Given the description of an element on the screen output the (x, y) to click on. 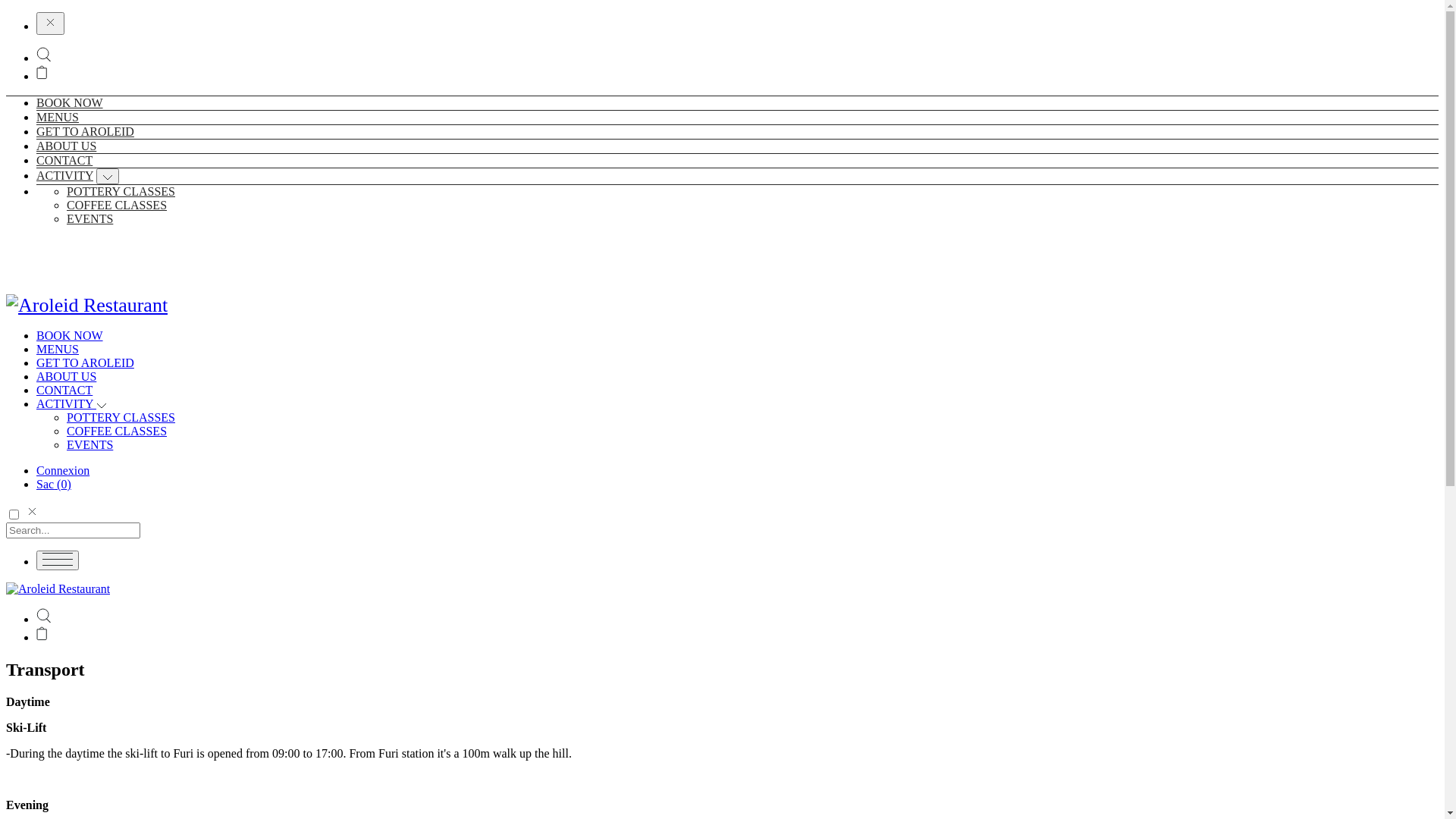
CONTACT Element type: text (64, 159)
GET TO AROLEID Element type: text (85, 131)
BOOK NOW Element type: text (69, 102)
COFFEE CLASSES Element type: text (116, 430)
POTTERY CLASSES Element type: text (120, 417)
0041 76 227 70 10 Element type: text (43, 243)
EVENTS Element type: text (89, 218)
COFFEE CLASSES Element type: text (116, 204)
ABOUT US Element type: text (66, 376)
MENUS Element type: text (57, 348)
BOOK NOW Element type: text (69, 335)
GET TO AROLEID Element type: text (85, 362)
Connexion Element type: text (62, 470)
POTTERY CLASSES Element type: text (120, 191)
ABOUT US Element type: text (66, 145)
Sac (0) Element type: text (53, 483)
ACTIVITY Element type: text (64, 175)
CONTACT Element type: text (64, 389)
EVENTS Element type: text (89, 444)
MENUS Element type: text (57, 116)
